Given the description of an element on the screen output the (x, y) to click on. 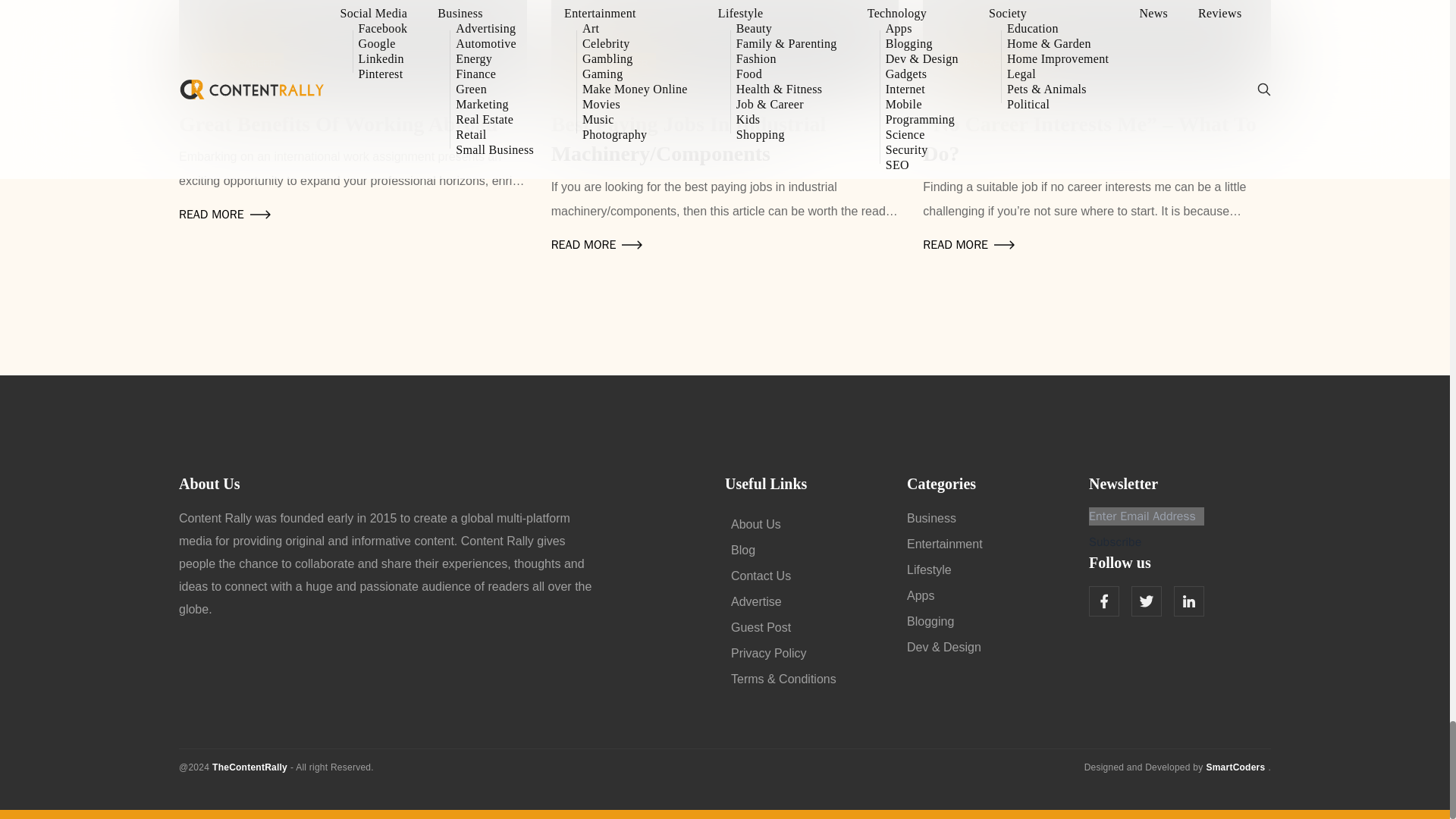
Subscribe (1115, 542)
